Given the description of an element on the screen output the (x, y) to click on. 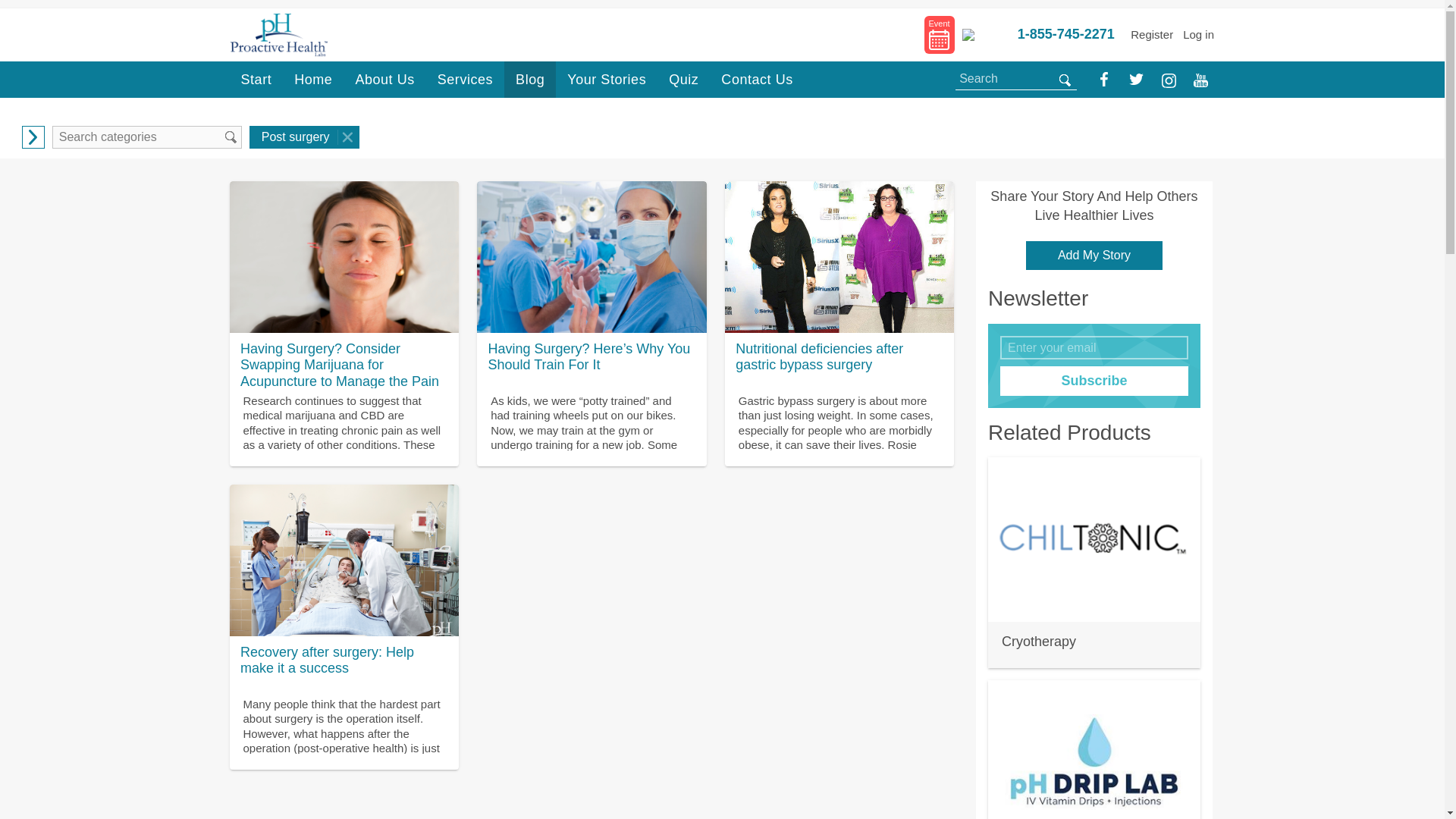
Blog (529, 79)
Start (255, 79)
Services (464, 79)
About Us (384, 79)
Quiz (684, 79)
Nutritional deficiencies after gastric bypass surgery (840, 256)
Home (312, 79)
Subscribe (1094, 380)
Contact Us (756, 79)
